Given the description of an element on the screen output the (x, y) to click on. 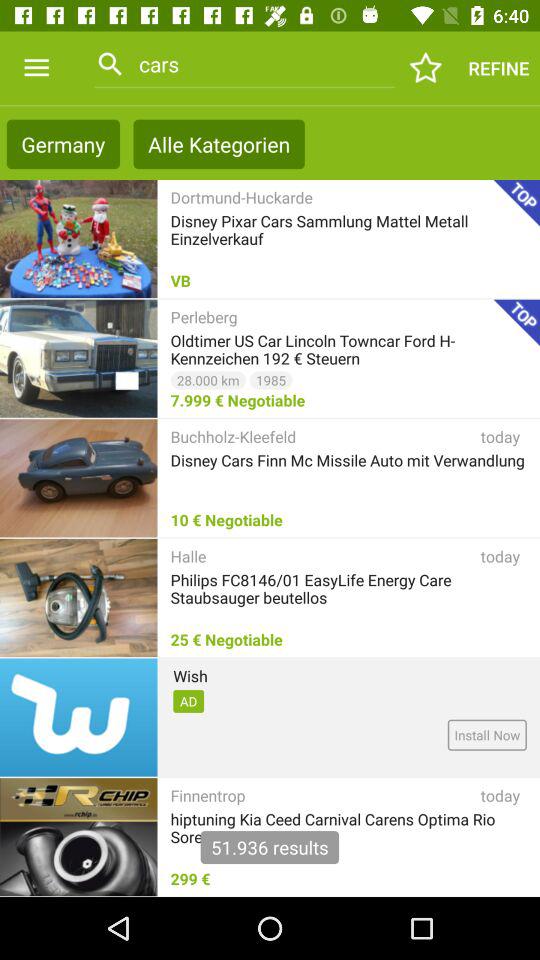
select item next to the cars (425, 67)
